Given the description of an element on the screen output the (x, y) to click on. 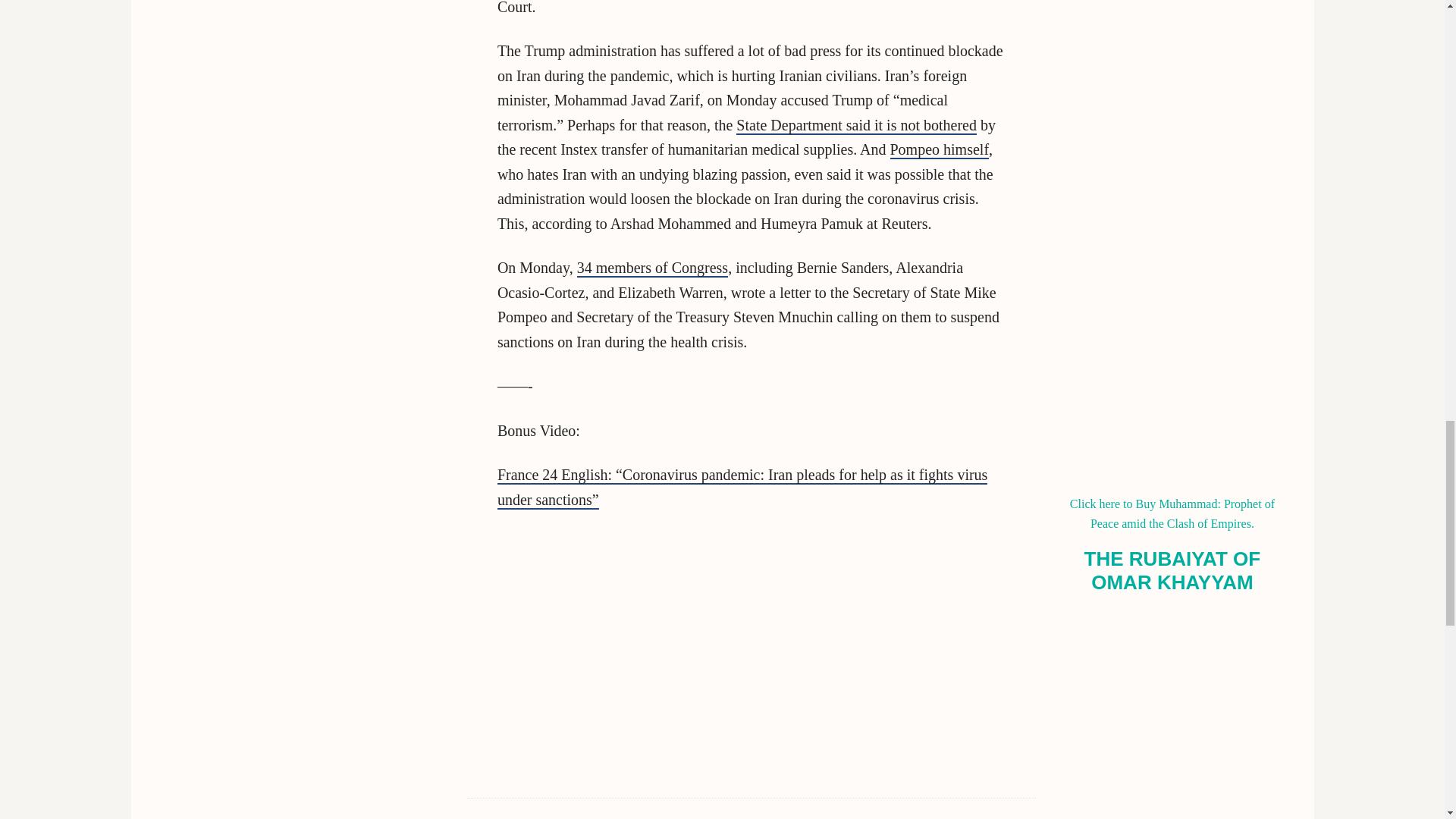
34 members of Congress (652, 268)
State Department said it is not bothered (856, 126)
Pompeo himself (939, 149)
